Given the description of an element on the screen output the (x, y) to click on. 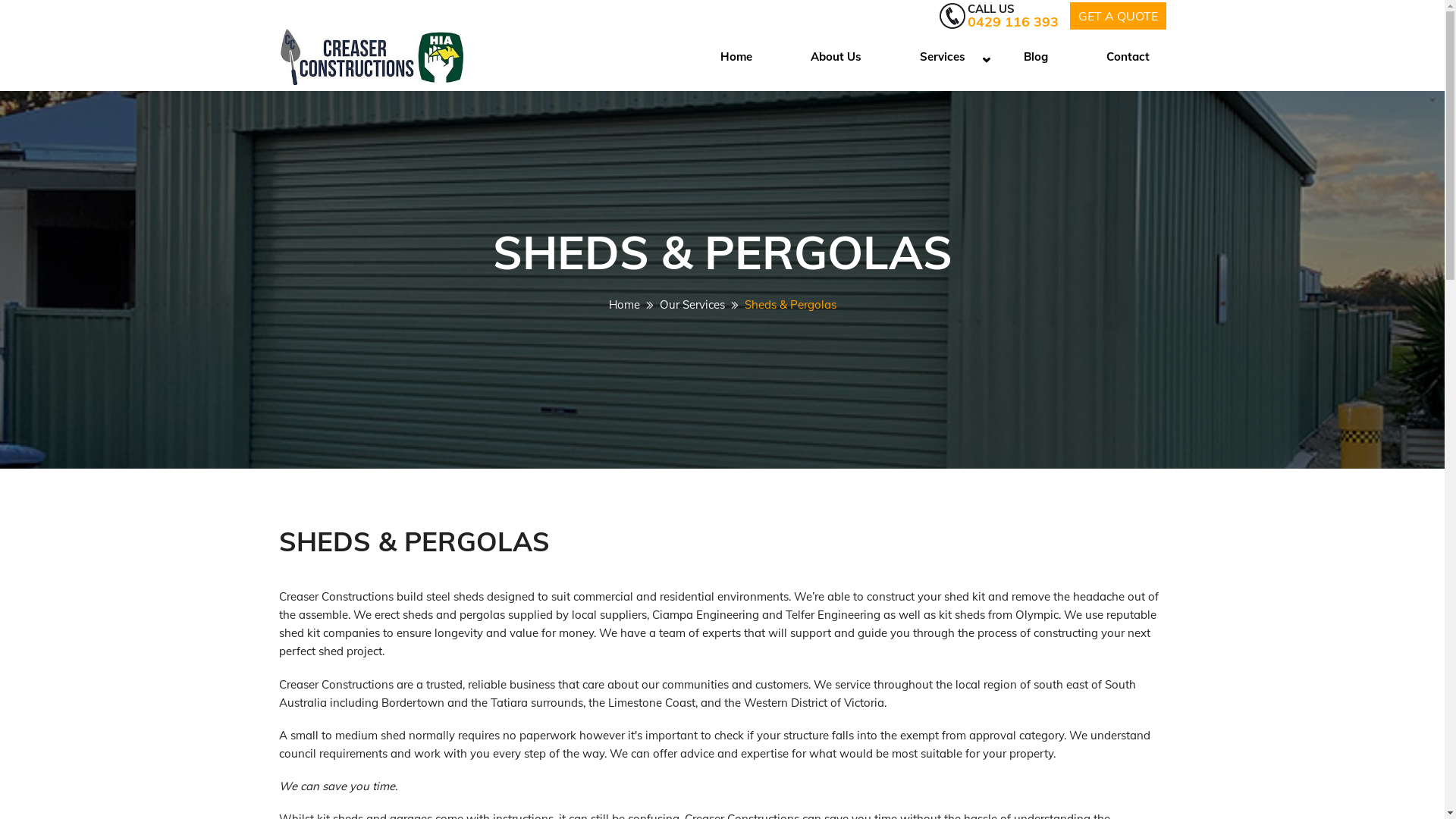
Services Element type: text (942, 56)
About Us Element type: text (836, 56)
Contact Element type: text (1120, 56)
GET A QUOTE Element type: text (1117, 15)
Home Element type: text (623, 304)
0429 116 393 Element type: text (1012, 21)
Our Services Element type: text (691, 304)
Sheds & Pergolas Element type: text (790, 304)
Home Element type: text (736, 56)
Blog Element type: text (1035, 56)
